Given the description of an element on the screen output the (x, y) to click on. 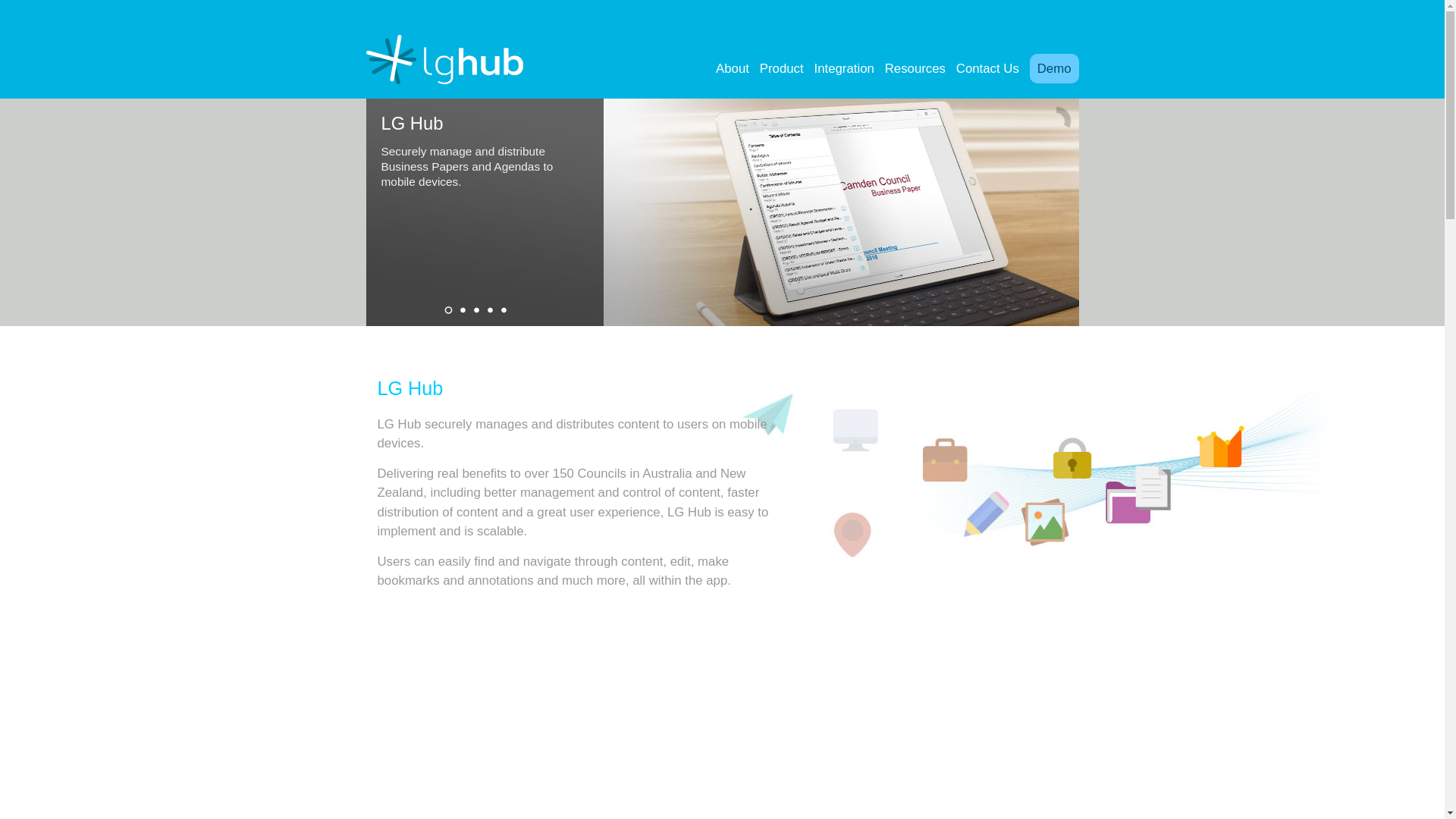
About Element type: text (732, 37)
Integration Element type: text (844, 37)
Resources Element type: text (914, 37)
Contact Us Element type: text (987, 37)
Product Element type: text (781, 37)
Demo Element type: text (1054, 68)
